Given the description of an element on the screen output the (x, y) to click on. 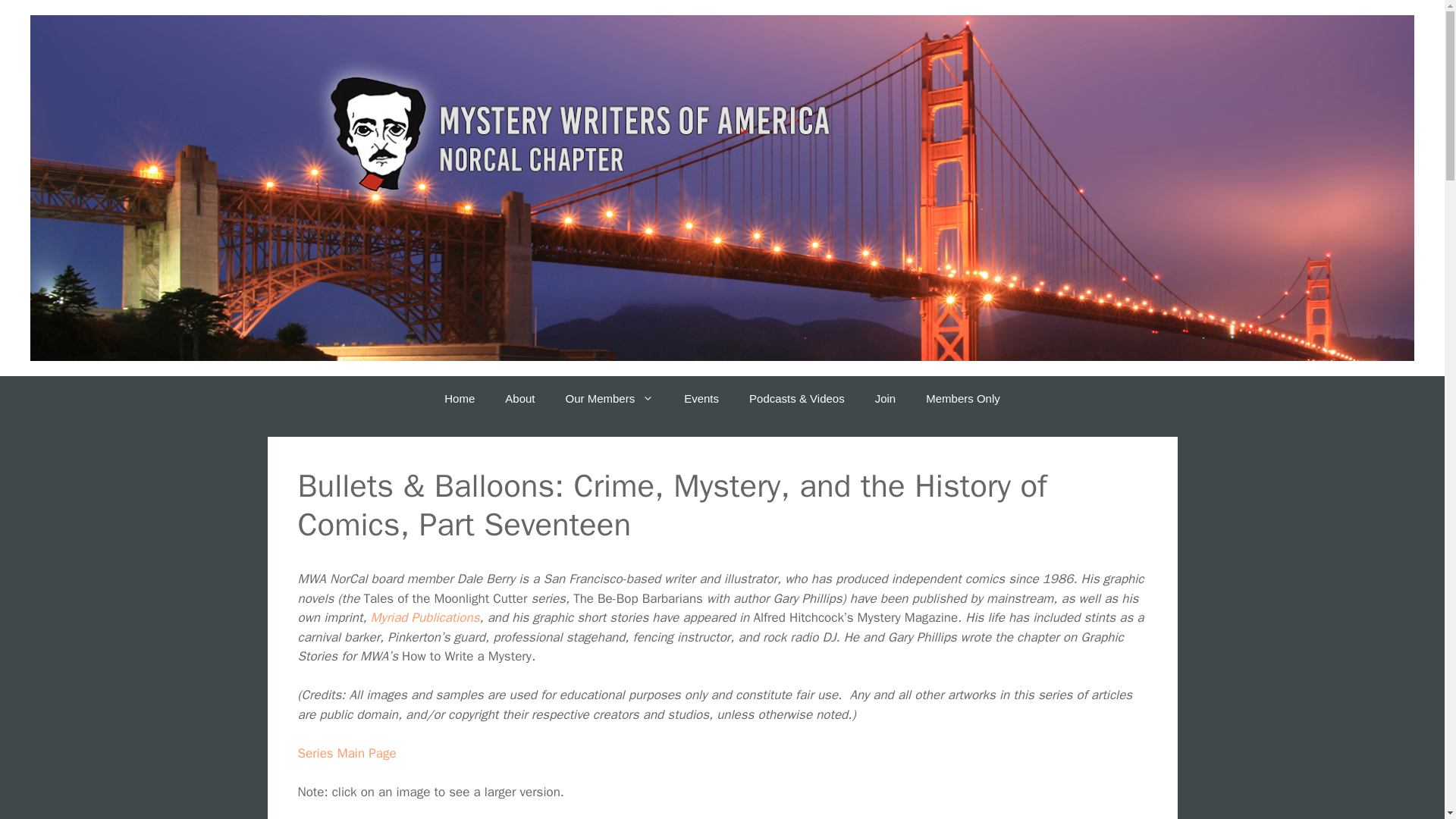
Join (885, 398)
Members Only (962, 398)
Our Members (609, 398)
Myriad Publications (425, 617)
Events (700, 398)
About (519, 398)
Series Main Page (346, 753)
Home (459, 398)
